Given the description of an element on the screen output the (x, y) to click on. 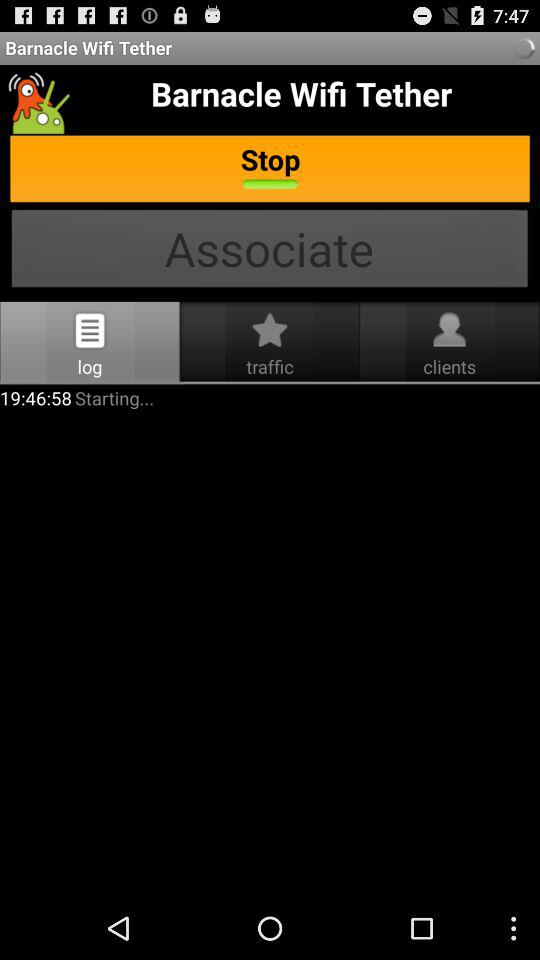
flip until associate item (269, 250)
